Given the description of an element on the screen output the (x, y) to click on. 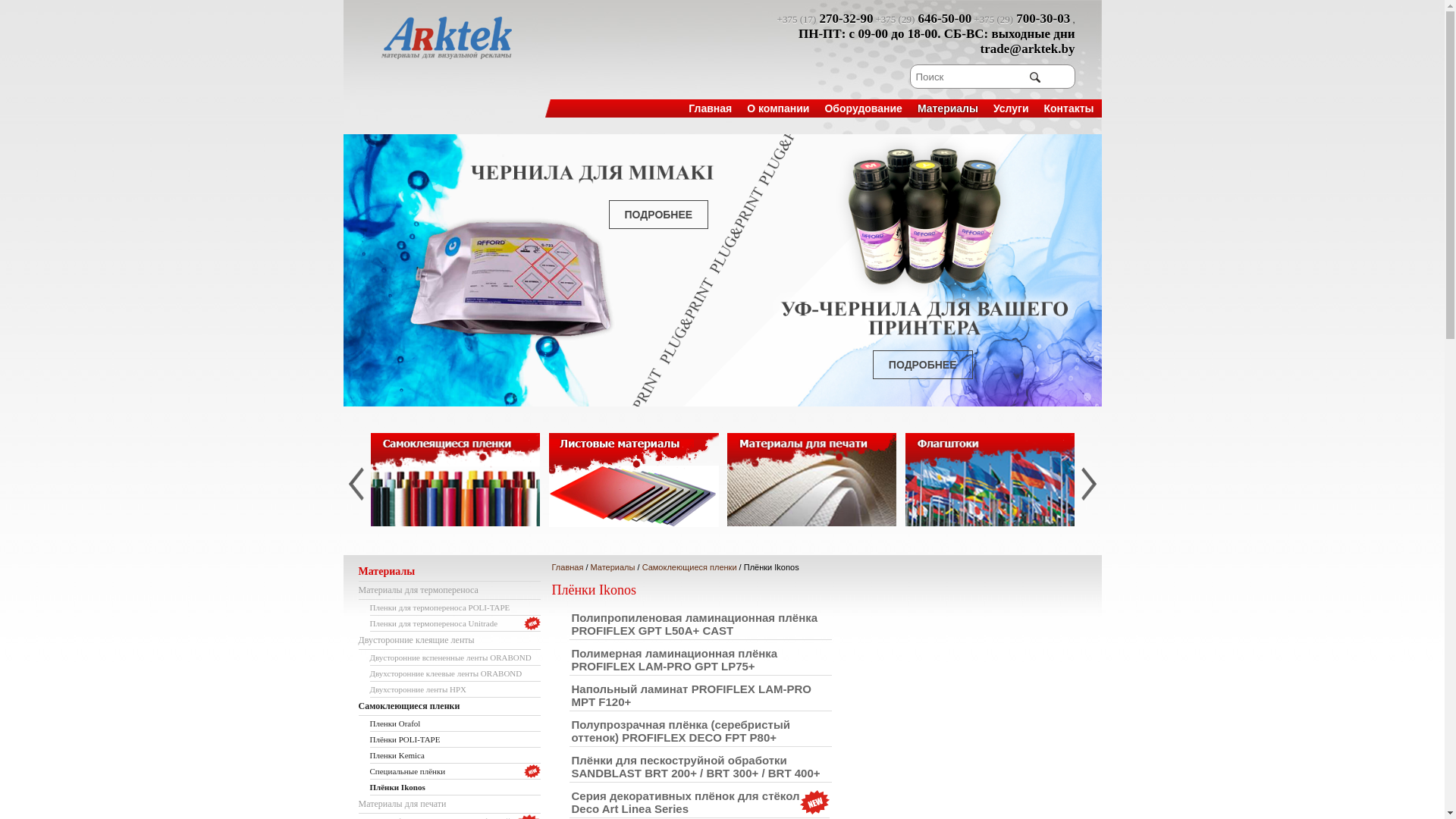
+375 (29) 700-30-03 Element type: text (1022, 18)
trade@arktek.by Element type: text (1027, 49)
+375 (29) 646-50-00 Element type: text (923, 18)
+375 (17) 270-32-90 Element type: text (825, 18)
